Given the description of an element on the screen output the (x, y) to click on. 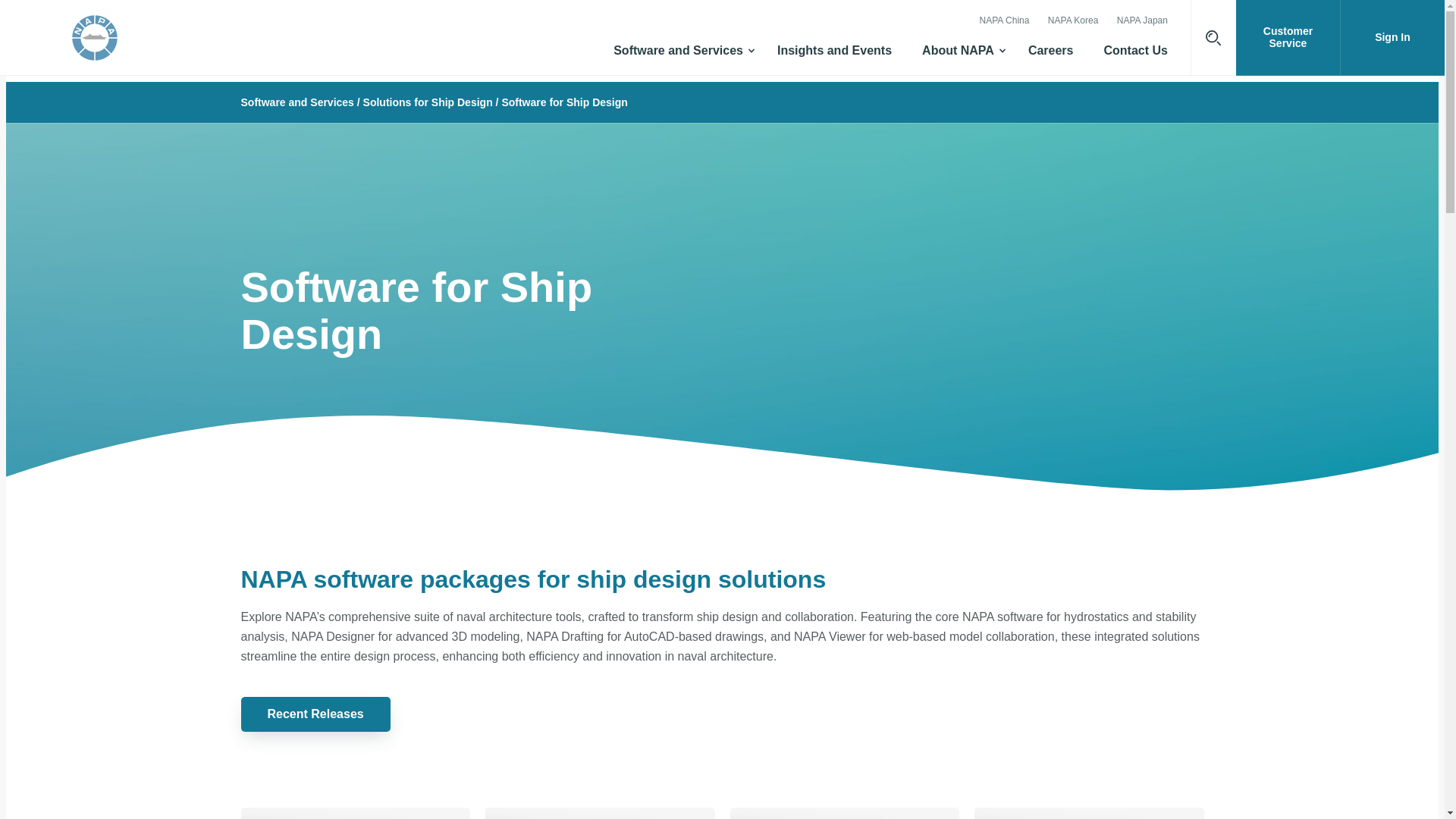
Insights and Events (834, 56)
NAPA Korea (1073, 20)
Customer Service (1288, 38)
About NAPA (960, 56)
Careers (1050, 56)
Software and Services (679, 56)
NAPA Japan (1141, 20)
NAPA China (1004, 20)
Contact Us (1135, 56)
NAPA (147, 37)
